Given the description of an element on the screen output the (x, y) to click on. 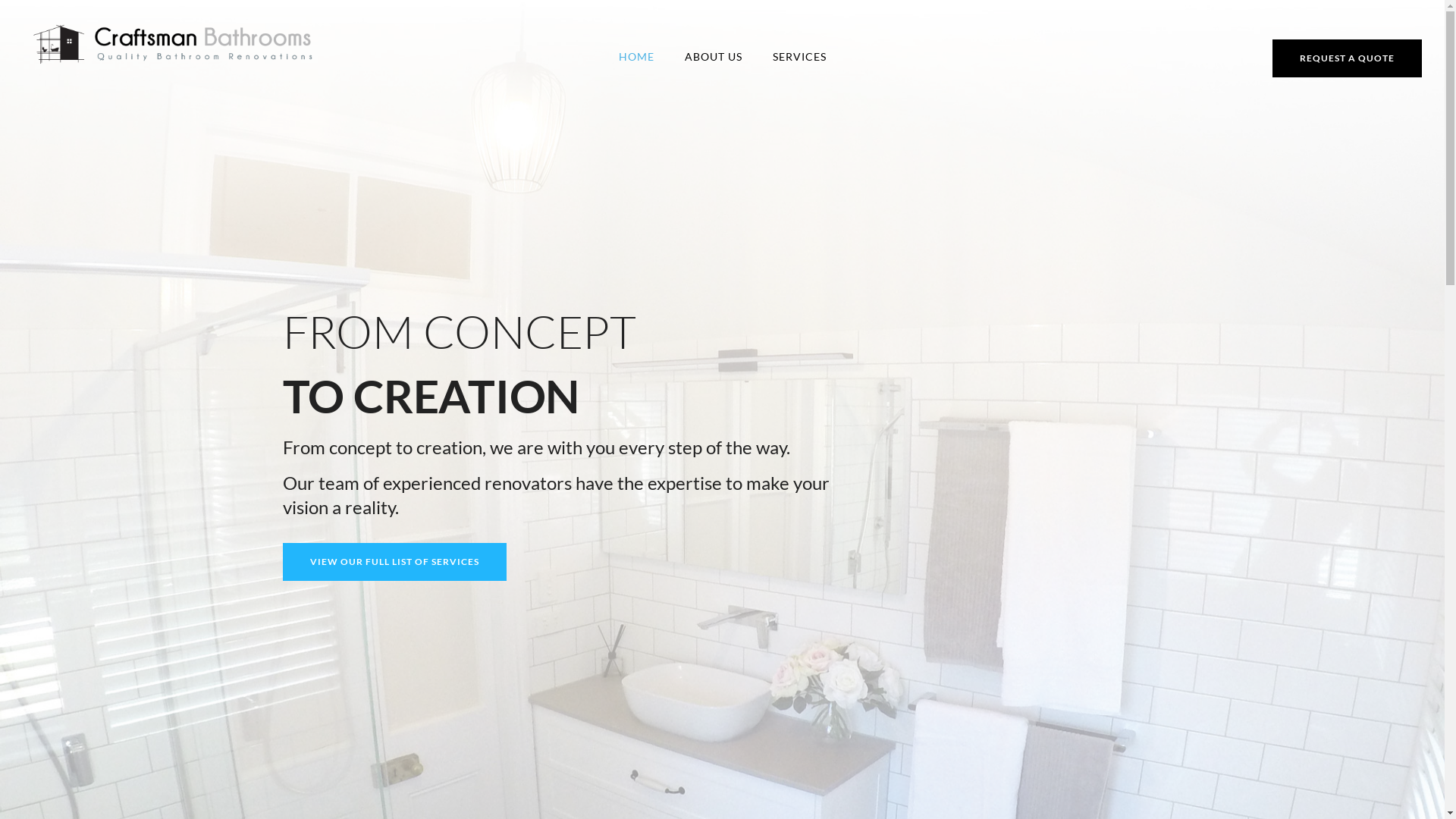
VIEW OUR FULL LIST OF SERVICES Element type: text (393, 561)
ABOUT US Element type: text (712, 56)
HOME Element type: text (636, 56)
REQUEST A QUOTE Element type: text (1346, 58)
SERVICES Element type: text (798, 56)
